Given the description of an element on the screen output the (x, y) to click on. 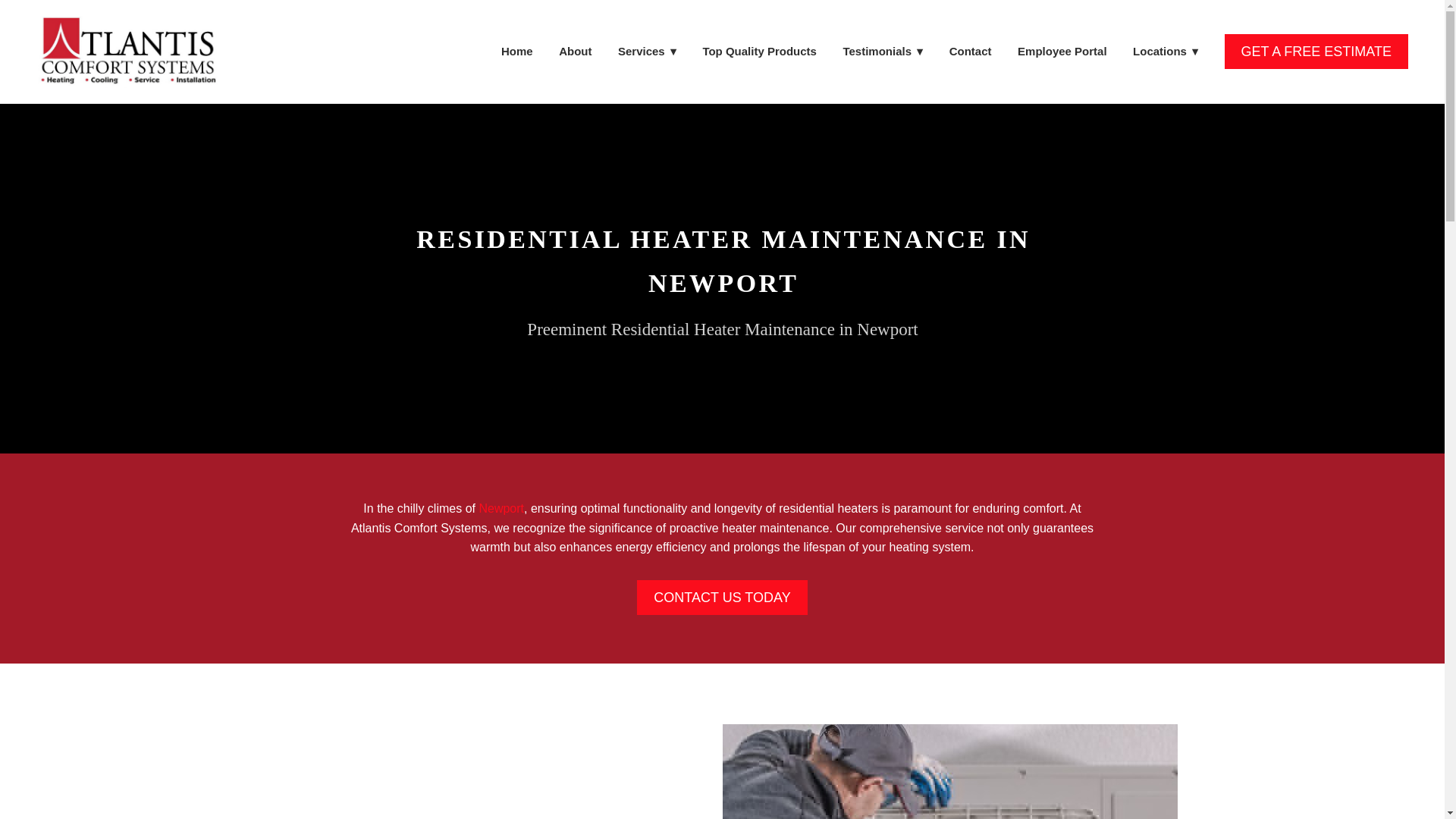
Atlantis Comfort Systems (127, 51)
About (575, 51)
CONTACT US TODAY (721, 597)
GET A FREE ESTIMATE (1315, 51)
Top Quality Products (758, 51)
Home (516, 51)
Newport (501, 508)
Contact (970, 51)
Employee Portal (1061, 51)
